Given the description of an element on the screen output the (x, y) to click on. 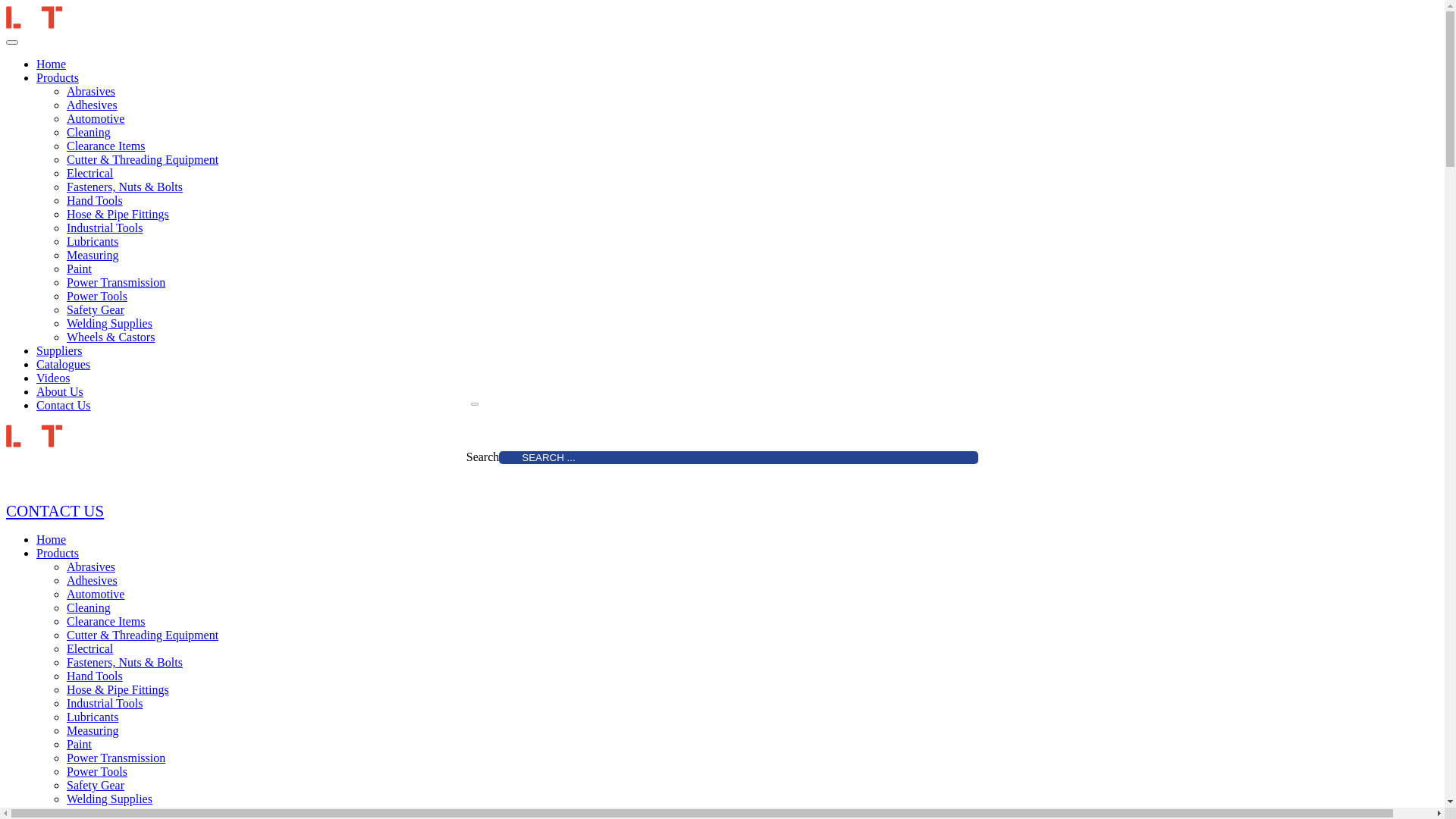
Adhesives Element type: text (91, 580)
Safety Gear Element type: text (95, 309)
Welding Supplies Element type: text (109, 322)
Fasteners, Nuts & Bolts Element type: text (124, 186)
Home Element type: text (50, 539)
Adhesives Element type: text (91, 104)
Cutter & Threading Equipment Element type: text (142, 634)
Catalogues Element type: text (63, 363)
Wheels & Castors Element type: text (110, 336)
Electrical Element type: text (89, 648)
Clearance Items Element type: text (105, 621)
Fasteners, Nuts & Bolts Element type: text (124, 661)
Safety Gear Element type: text (95, 784)
Paint Element type: text (78, 268)
Contact Us Element type: text (63, 404)
Measuring Element type: text (92, 254)
Industrial Tools Element type: text (104, 702)
Automotive Element type: text (95, 593)
Hose & Pipe Fittings Element type: text (117, 213)
Products Element type: text (57, 552)
Cleaning Element type: text (88, 131)
Hand Tools Element type: text (94, 200)
Abrasives Element type: text (90, 566)
Cleaning Element type: text (88, 607)
Clearance Items Element type: text (105, 145)
Suppliers Element type: text (58, 350)
Abrasives Element type: text (90, 90)
Cutter & Threading Equipment Element type: text (142, 159)
Paint Element type: text (78, 743)
Power Tools Element type: text (96, 771)
Welding Supplies Element type: text (109, 798)
Lubricants Element type: text (92, 716)
About Us Element type: text (59, 391)
Industrial Tools Element type: text (104, 227)
Measuring Element type: text (92, 730)
Hand Tools Element type: text (94, 675)
Lubricants Element type: text (92, 241)
Electrical Element type: text (89, 172)
Home Element type: text (50, 63)
CONTACT US Element type: text (54, 511)
Products Element type: text (57, 77)
Videos Element type: text (52, 377)
Power Transmission Element type: text (115, 282)
Hose & Pipe Fittings Element type: text (117, 689)
Go Element type: hover (476, 404)
Automotive Element type: text (95, 118)
Power Transmission Element type: text (115, 757)
Power Tools Element type: text (96, 295)
